Given the description of an element on the screen output the (x, y) to click on. 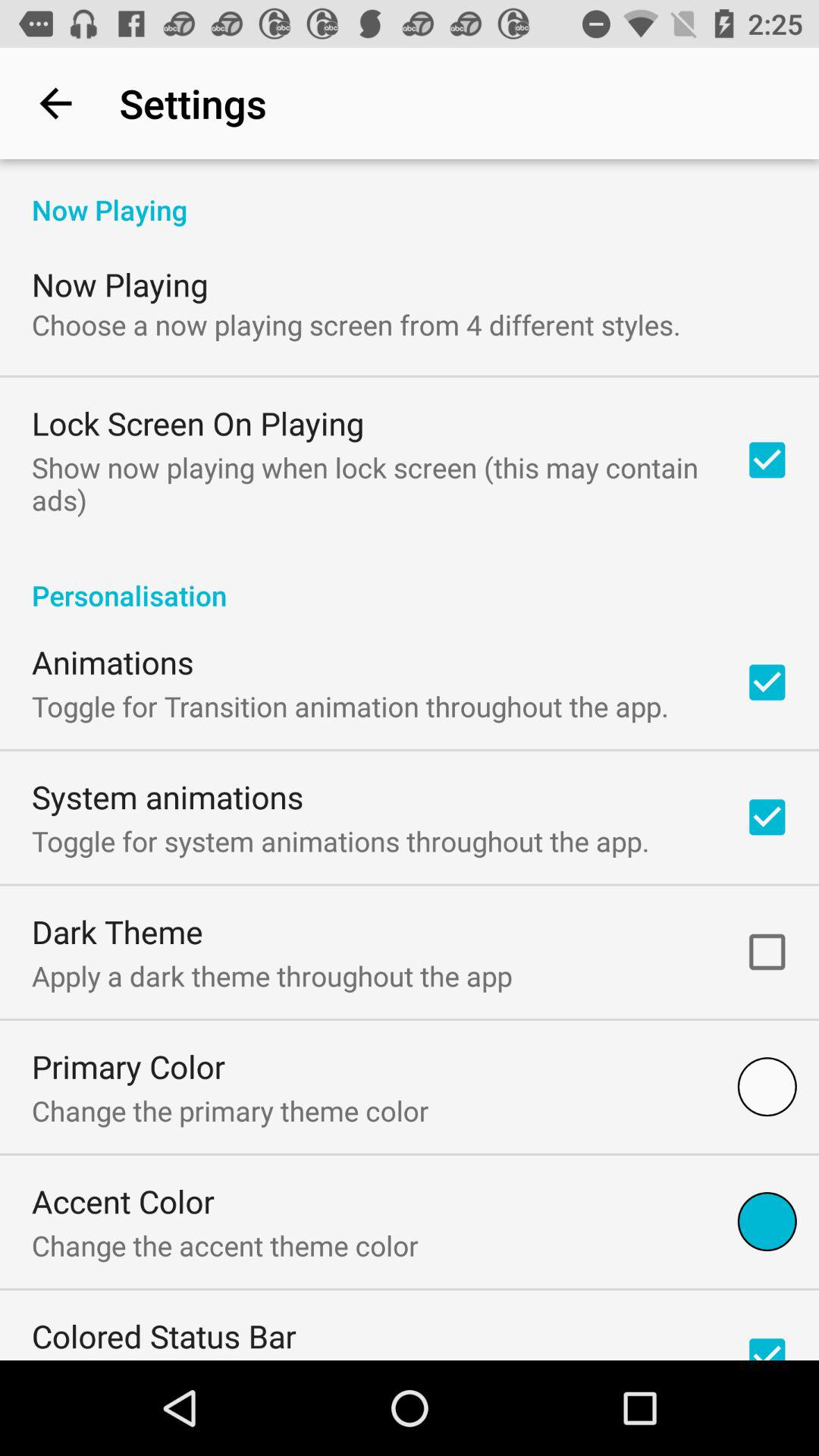
turn off the icon to the left of settings (55, 103)
